Given the description of an element on the screen output the (x, y) to click on. 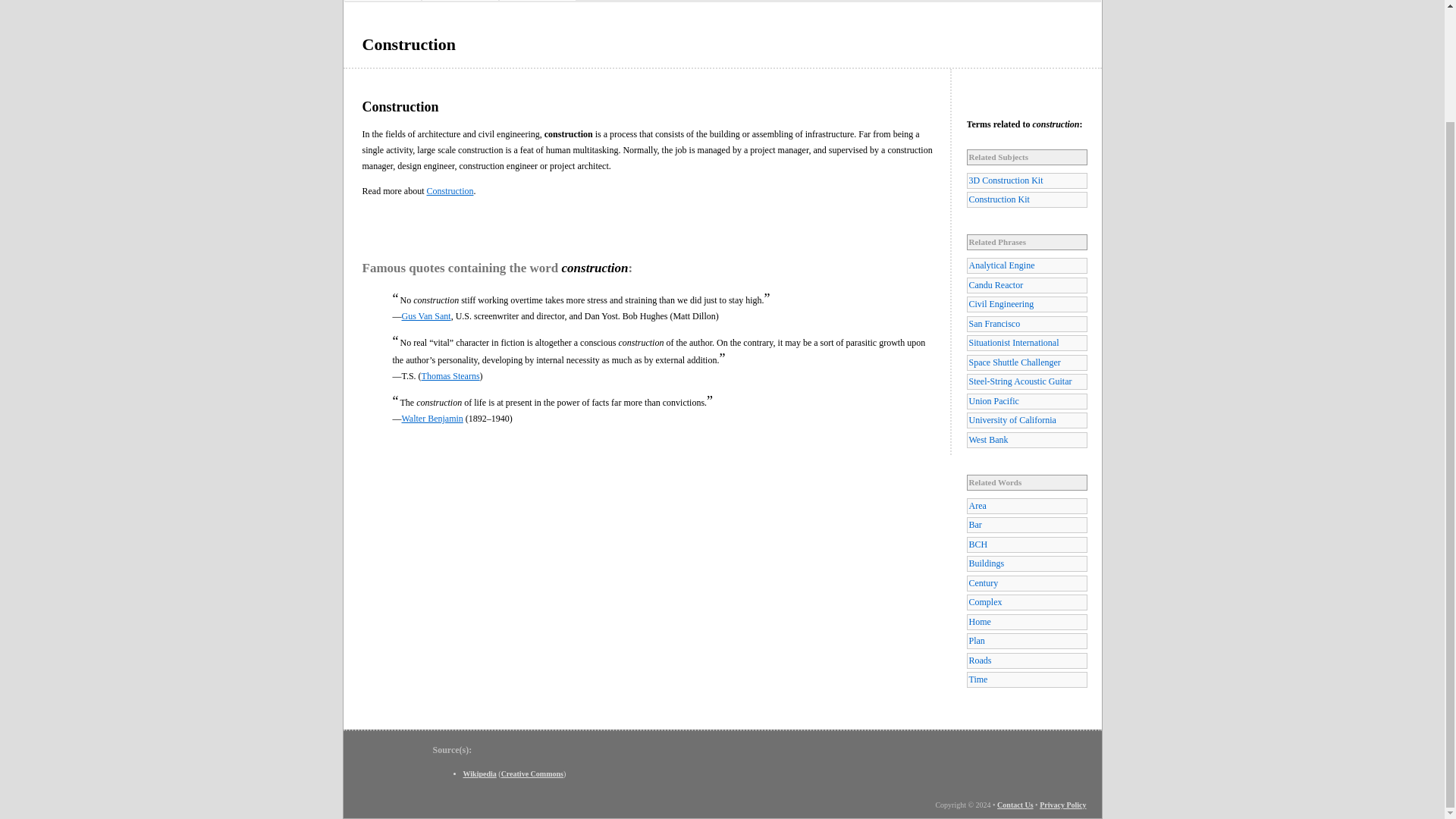
Space Shuttle Challenger (1026, 362)
Who is Walter Benjamin? (432, 418)
Complex (1026, 602)
Construction Kit (1026, 199)
Union Pacific (1026, 401)
Gus Van Sant (426, 316)
Plan (1026, 641)
Who is Thomas Stearns? (451, 376)
Area (1026, 505)
Steel-String Acoustic Guitar (1026, 381)
University of California (1026, 420)
Contact Us (1015, 804)
Time (1026, 679)
